Given the description of an element on the screen output the (x, y) to click on. 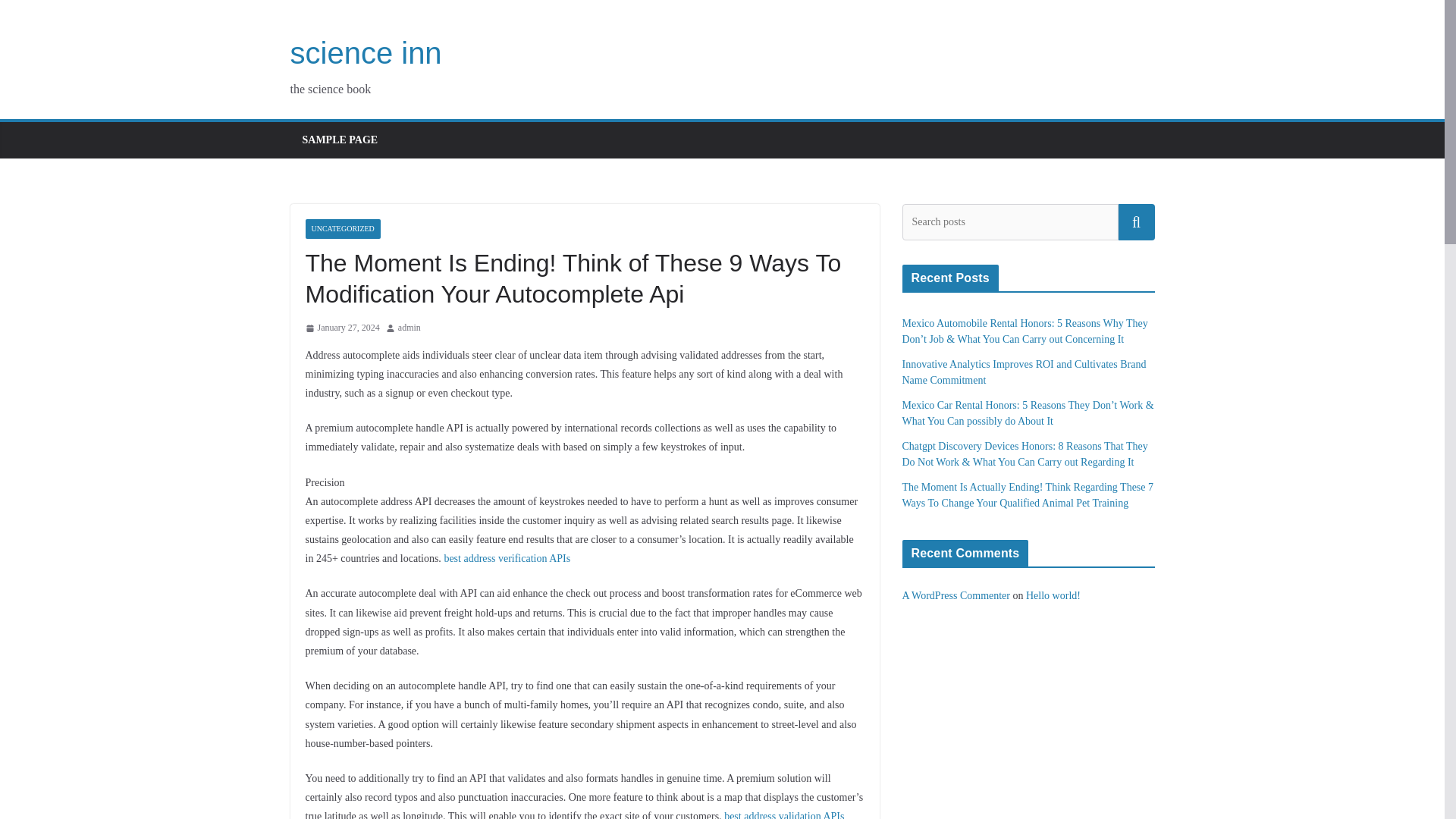
SAMPLE PAGE (339, 139)
admin (408, 328)
UNCATEGORIZED (342, 229)
Search (1136, 221)
7:15 pm (341, 328)
Hello world! (1053, 595)
science inn (365, 52)
best address verification APIs (507, 558)
January 27, 2024 (341, 328)
science inn (365, 52)
best address validation APIs (783, 814)
A WordPress Commenter (956, 595)
admin (408, 328)
